Given the description of an element on the screen output the (x, y) to click on. 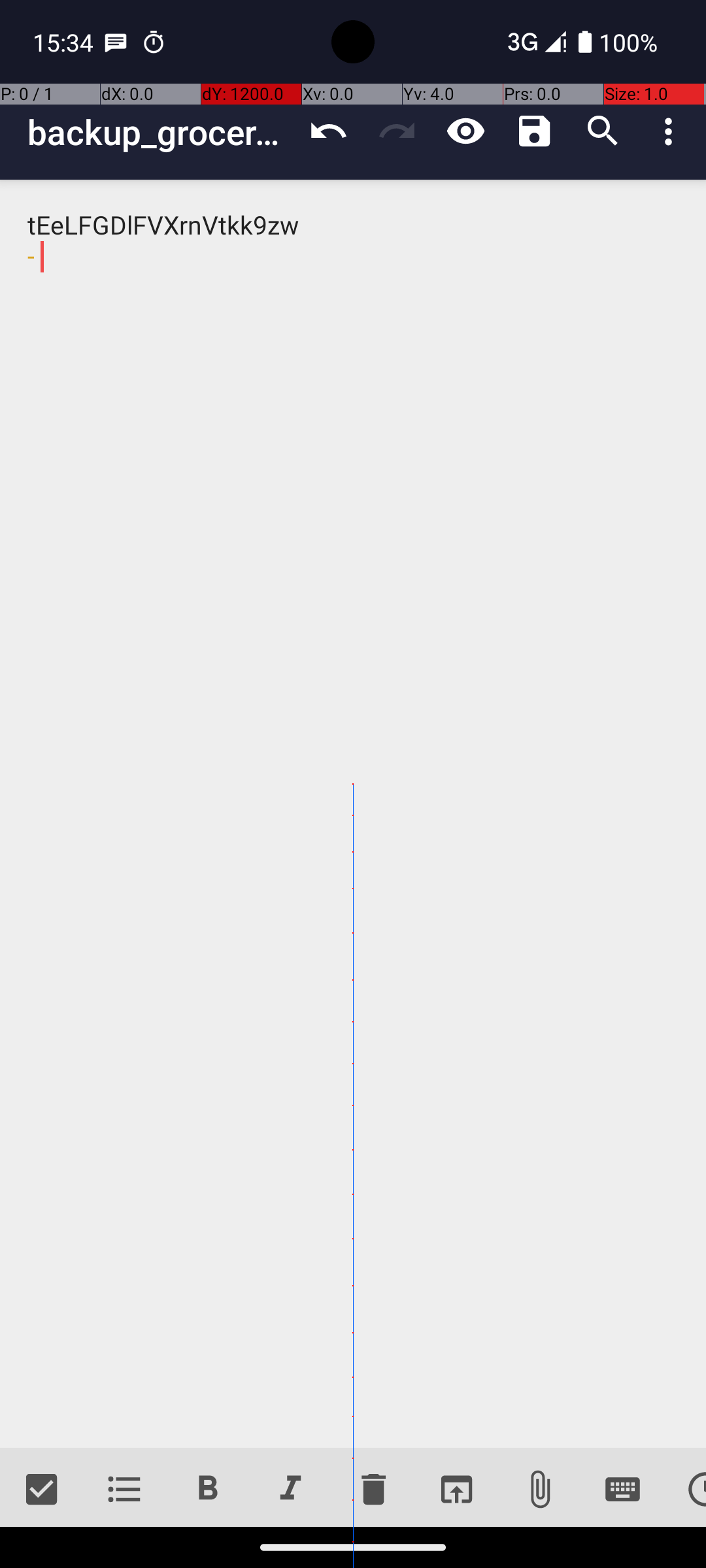
backup_grocery_list_weekly Element type: android.widget.TextView (160, 131)
tEeLFGDlFVXrnVtkk9zw
-  Element type: android.widget.EditText (353, 813)
